Given the description of an element on the screen output the (x, y) to click on. 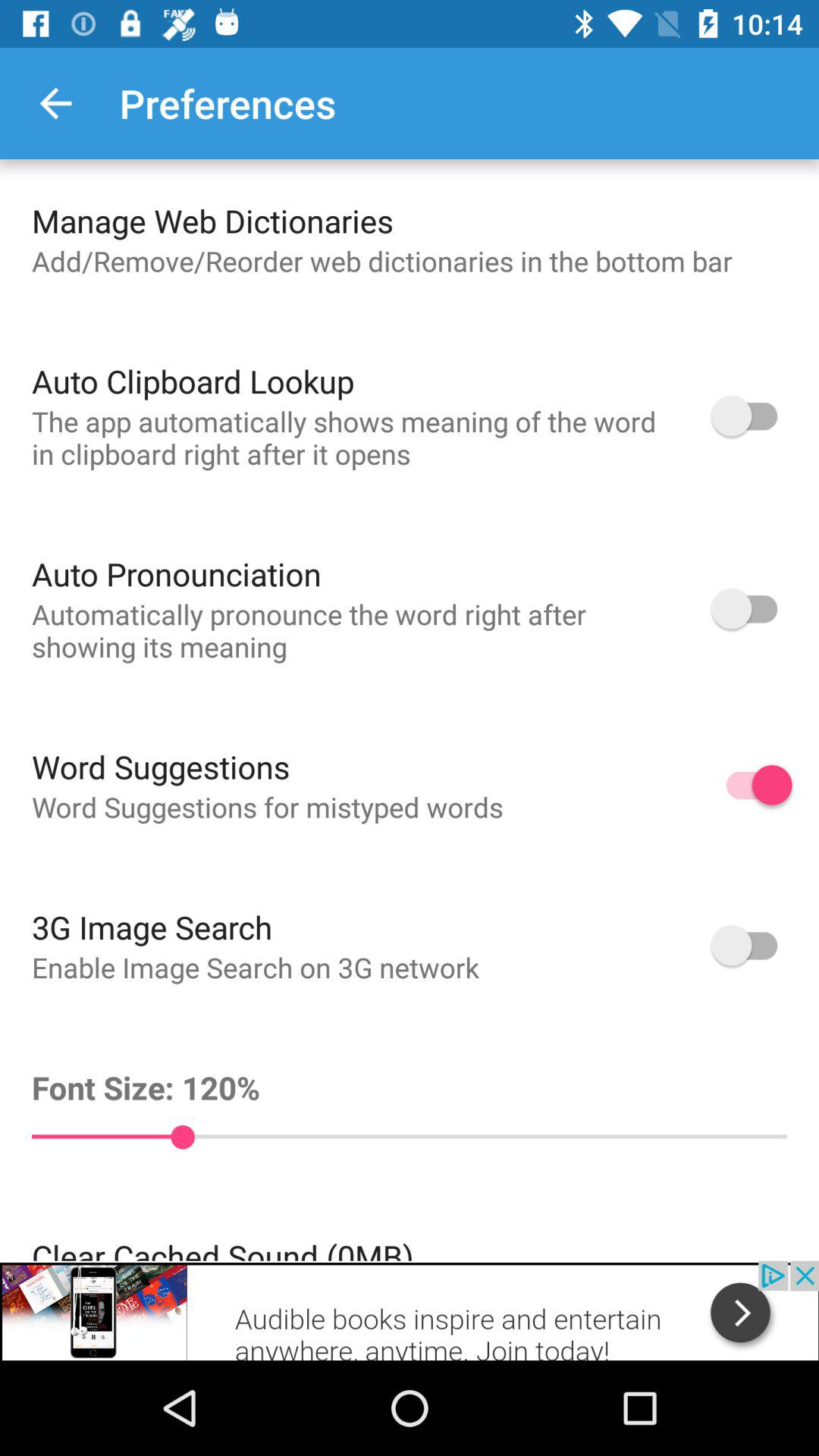
enable word suggetions option (751, 785)
